Given the description of an element on the screen output the (x, y) to click on. 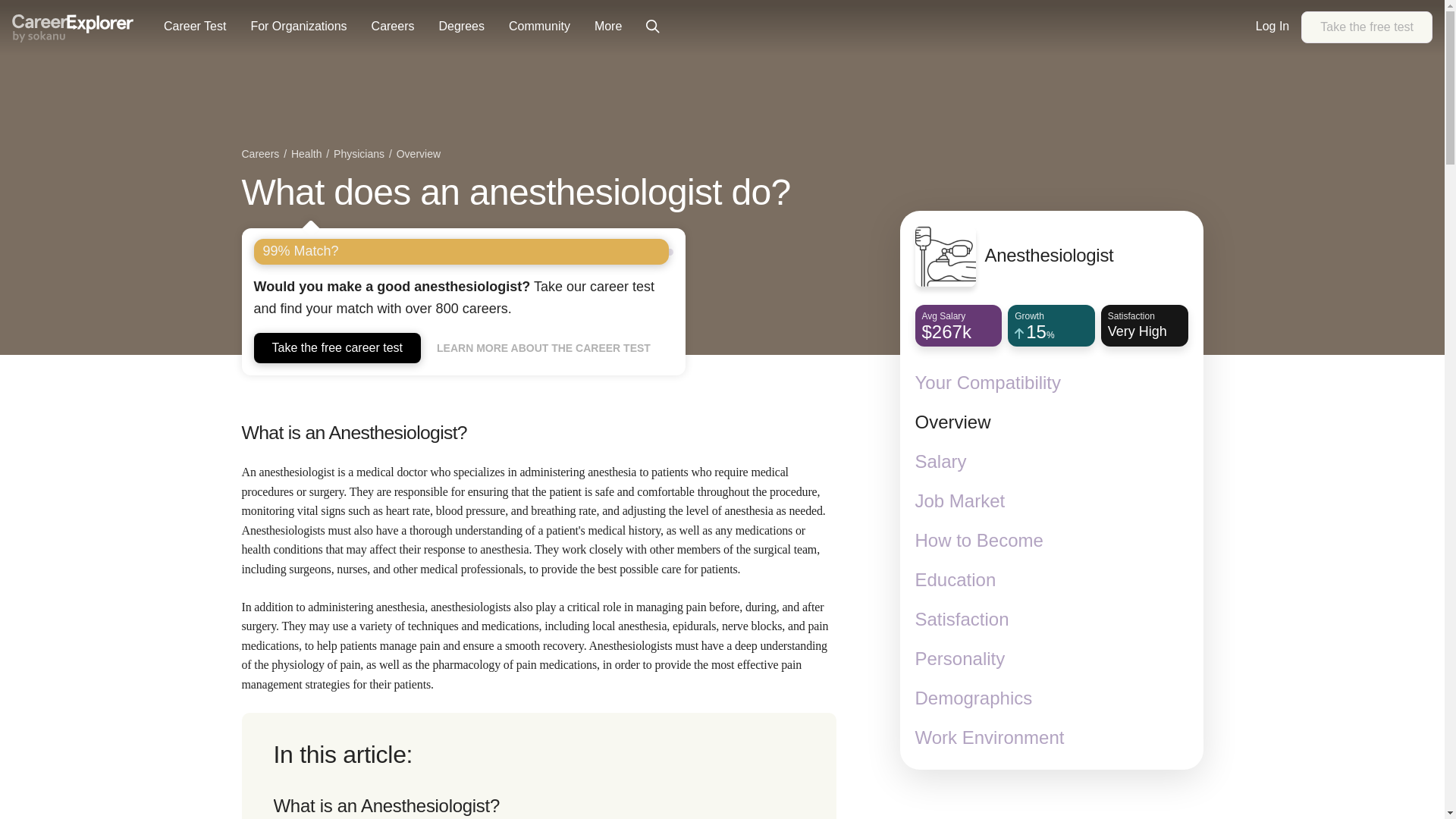
15.454545454545453 (1050, 333)
More (607, 27)
Log In (1271, 27)
CareerExplorer (72, 27)
Degrees (1366, 26)
Career Test (460, 27)
Table of contents (194, 27)
Careers (538, 765)
For Organizations (392, 27)
CareerExplorer (298, 27)
Careers (72, 28)
Community (261, 154)
Health (539, 27)
